Given the description of an element on the screen output the (x, y) to click on. 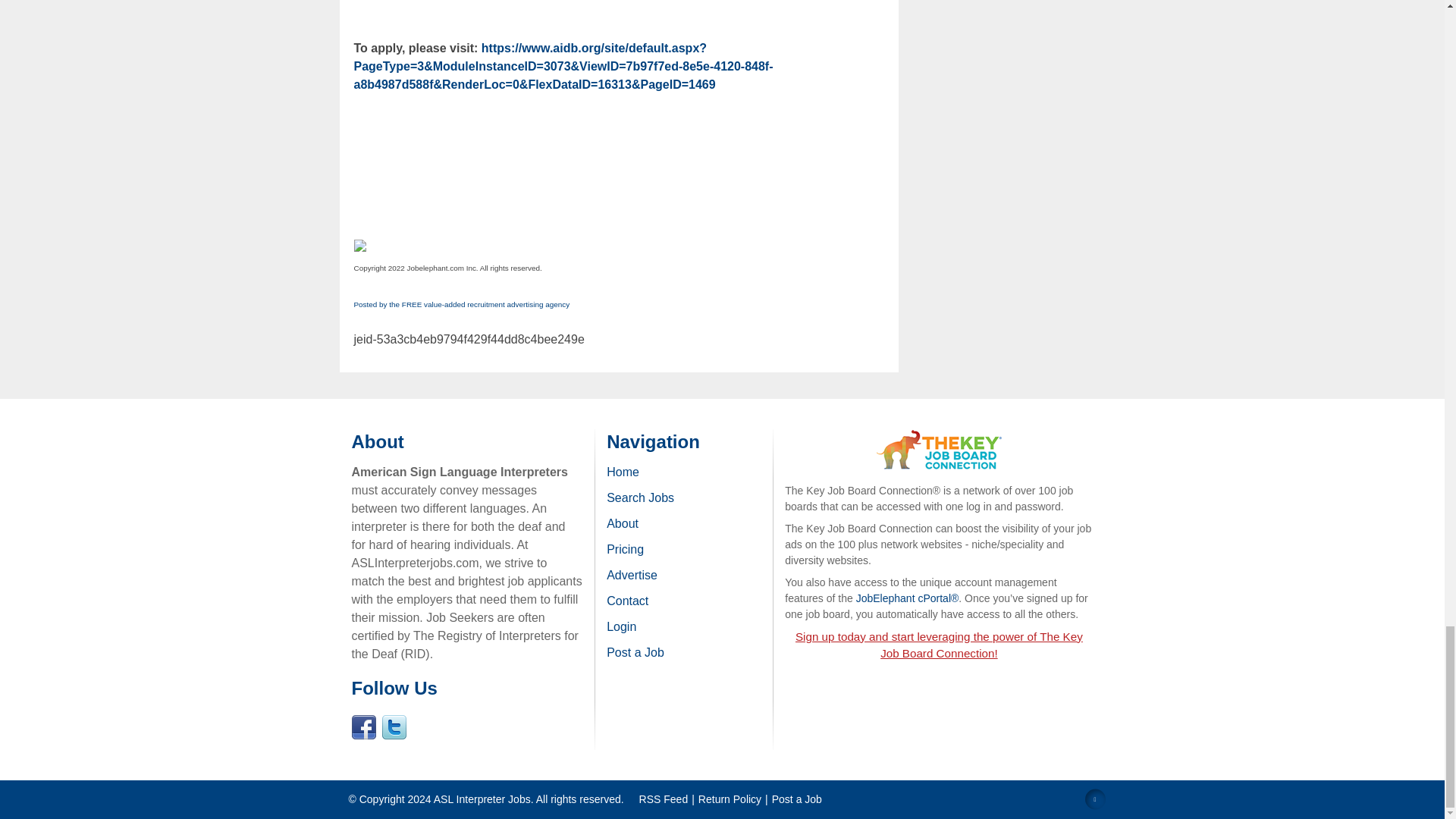
JobElephant THE KEY Job Board Connection (939, 436)
